Given the description of an element on the screen output the (x, y) to click on. 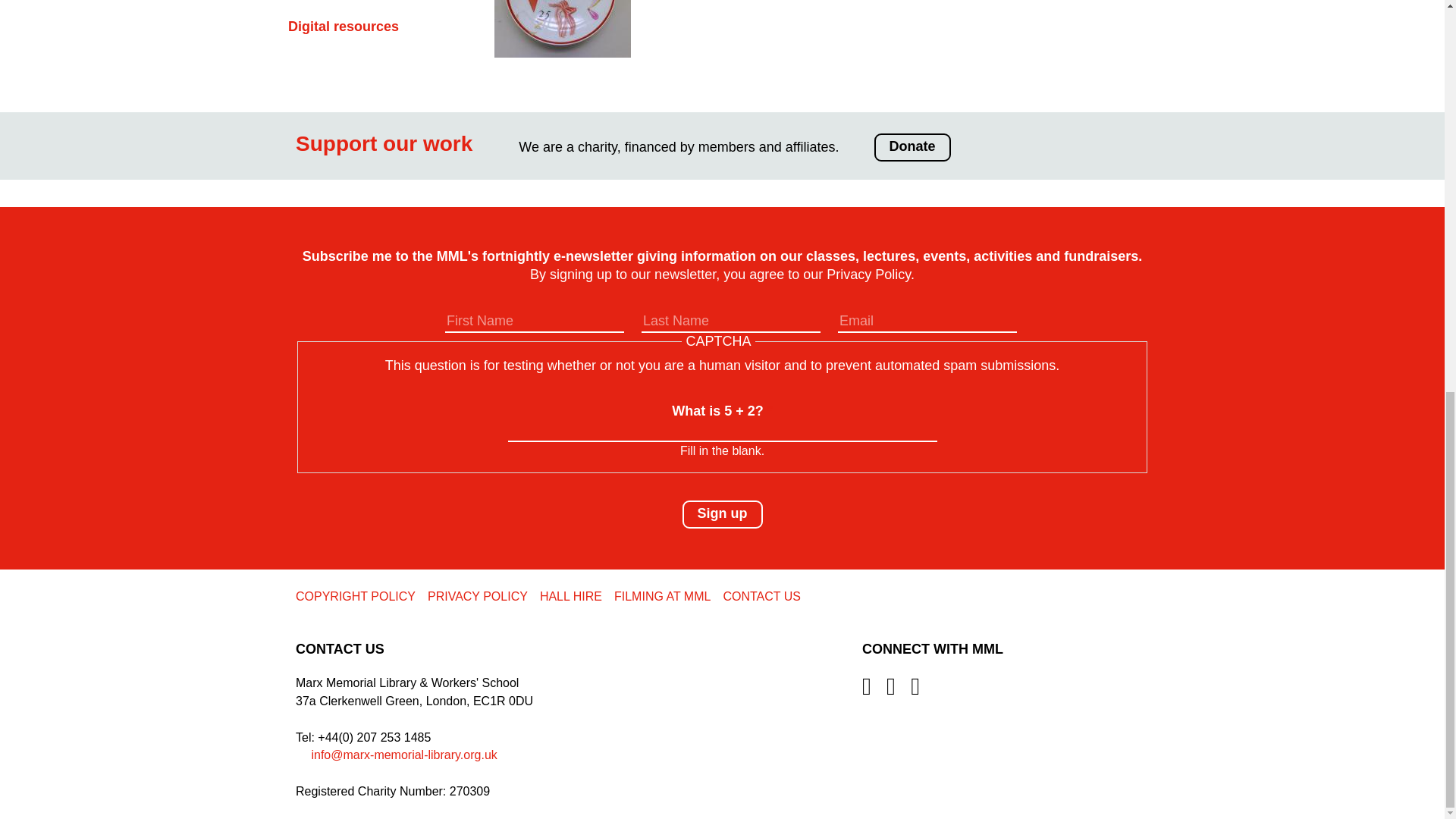
Privacy Policy (869, 273)
Sign up (722, 514)
Donate (912, 147)
Sign up (722, 514)
Digital resources (343, 26)
